Given the description of an element on the screen output the (x, y) to click on. 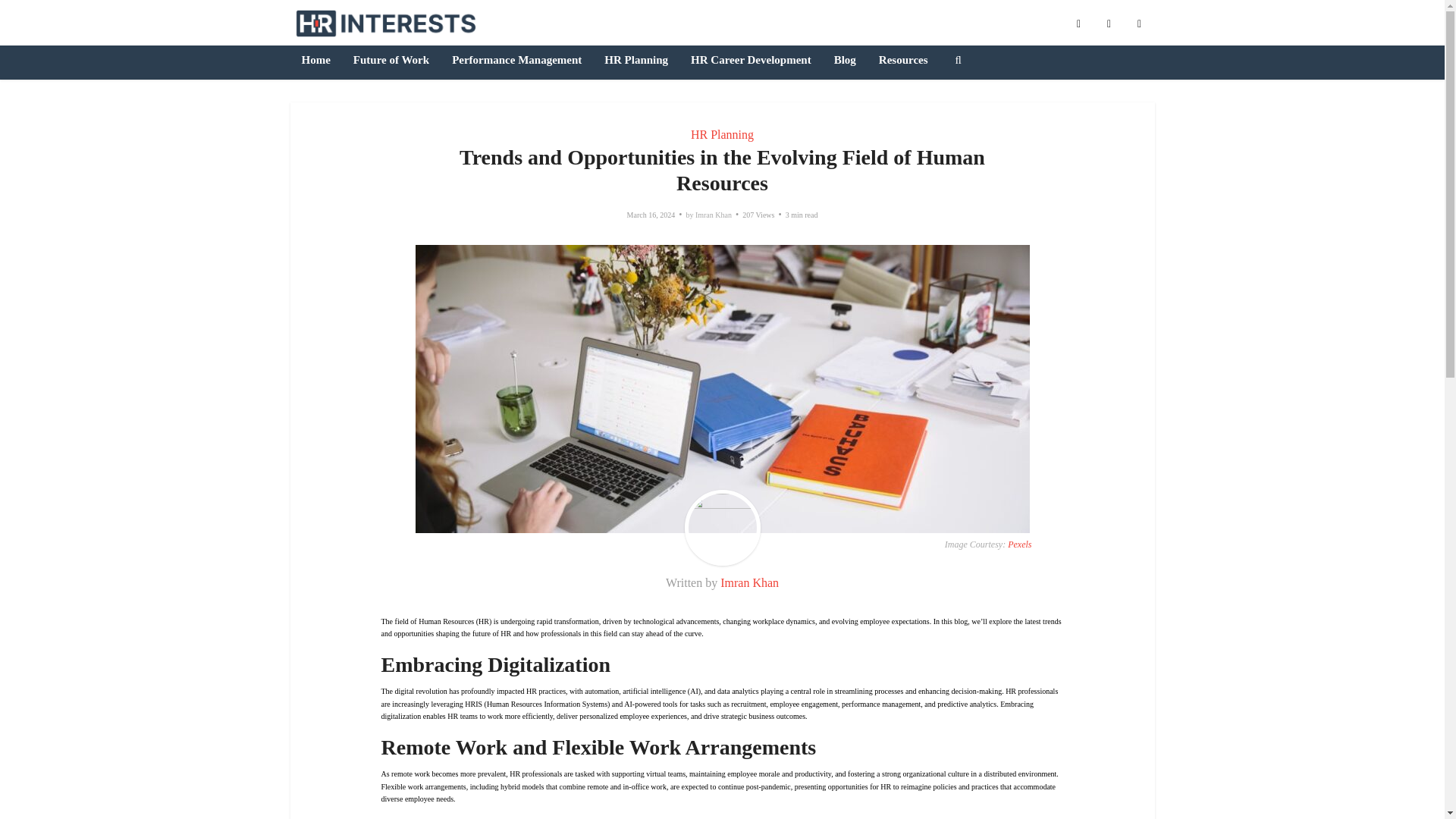
Future of Work (391, 60)
Imran Khan (749, 582)
Blog (844, 60)
Imran Khan (713, 215)
Home (314, 60)
Resources (903, 60)
HR Planning (722, 133)
HR Career Development (750, 60)
Search (957, 60)
HR Planning (635, 60)
Performance Management (516, 60)
Pexels (1018, 543)
